Given the description of an element on the screen output the (x, y) to click on. 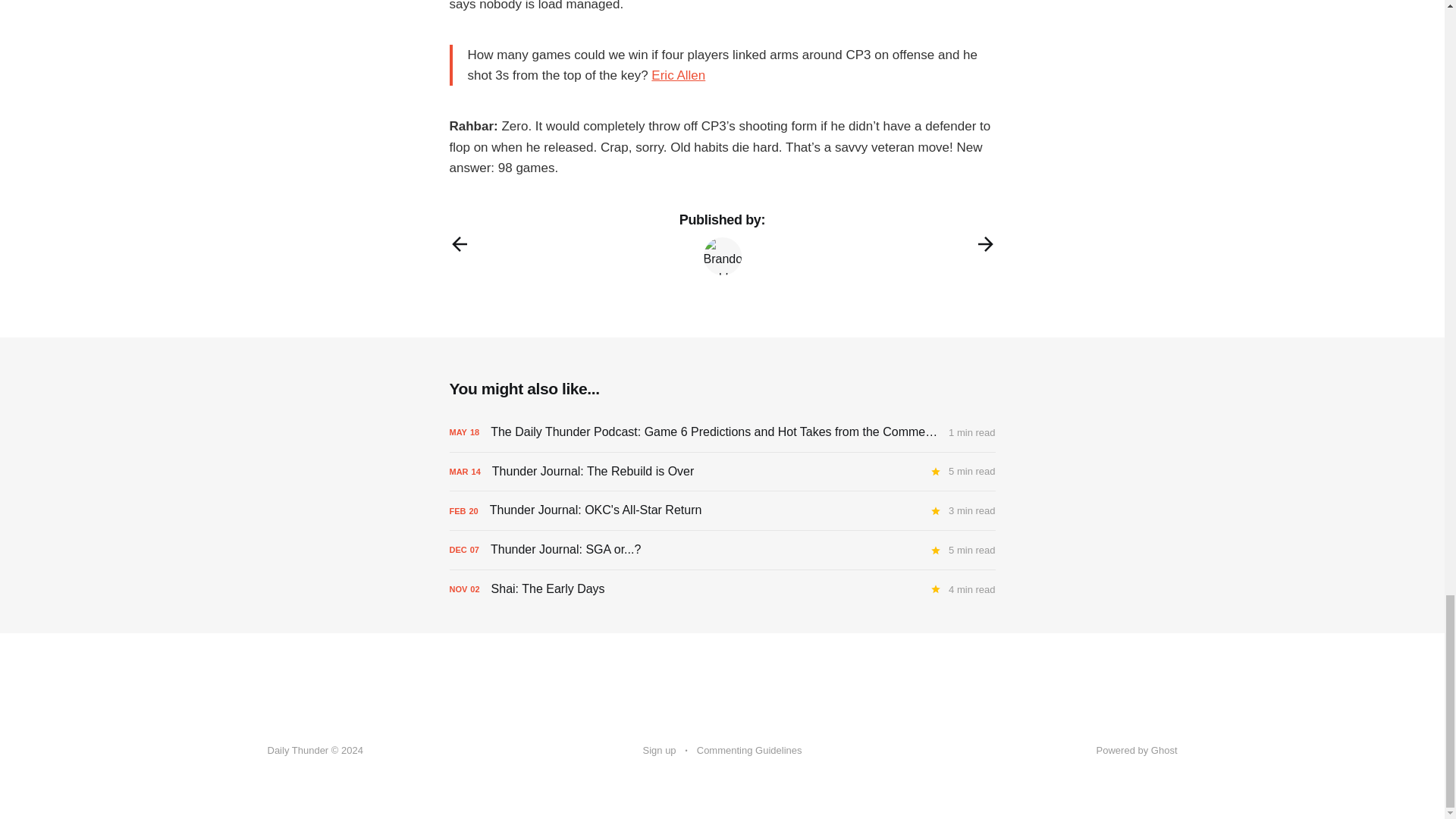
Commenting Guidelines (749, 750)
Powered by Ghost (1136, 749)
Sign up (660, 750)
Eric Allen (677, 74)
